Given the description of an element on the screen output the (x, y) to click on. 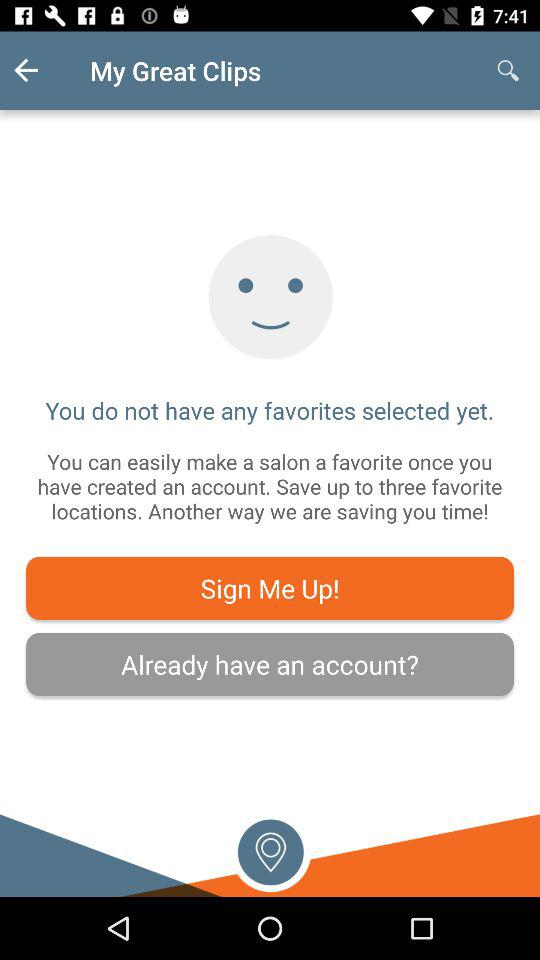
tap the item above the you do not (42, 70)
